Given the description of an element on the screen output the (x, y) to click on. 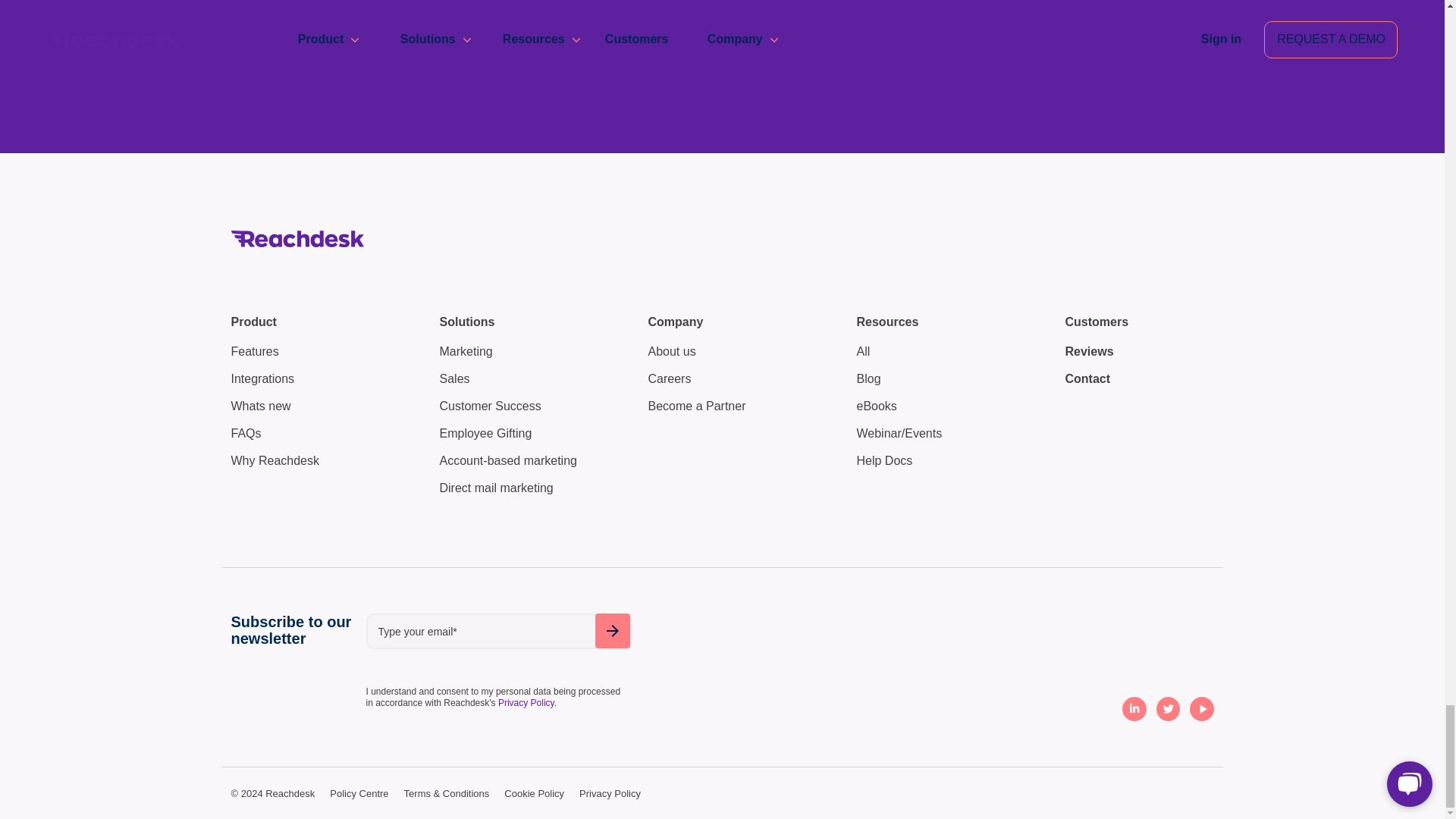
 Subscribe now (611, 630)
